Given the description of an element on the screen output the (x, y) to click on. 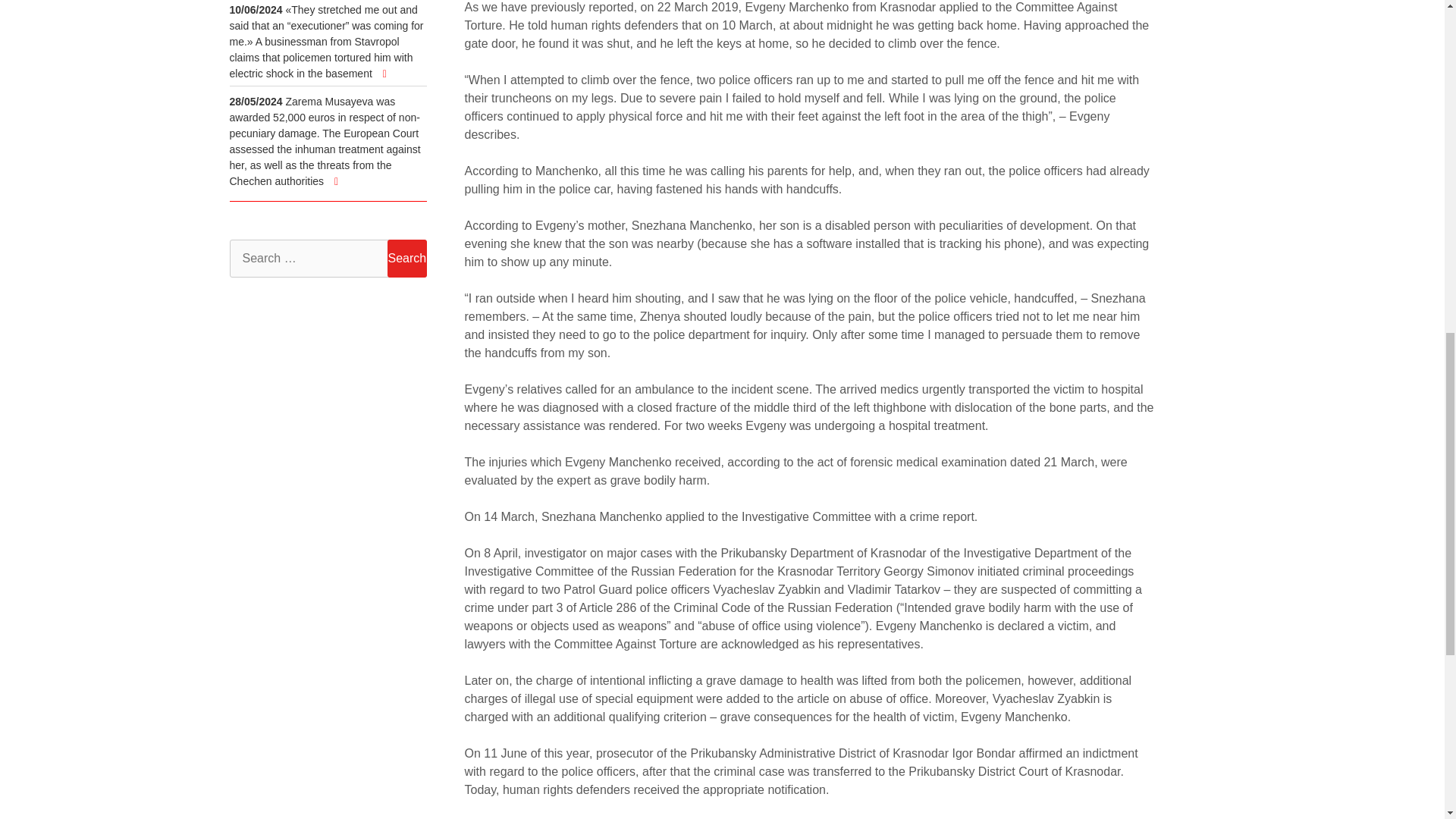
Search (406, 258)
Search (406, 258)
Search (406, 258)
